Given the description of an element on the screen output the (x, y) to click on. 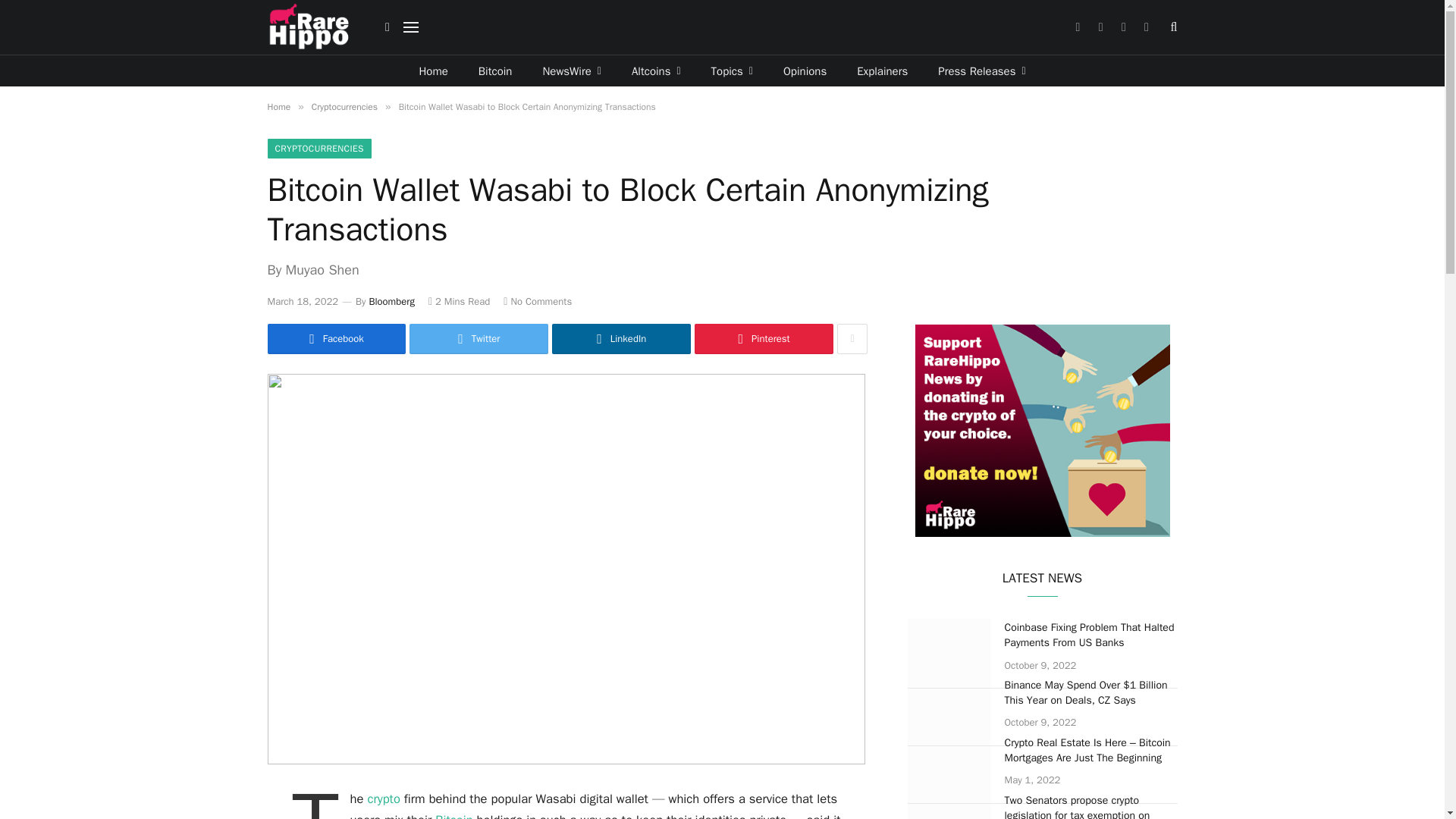
Switch to Dark Design - easier on eyes. (387, 27)
NewsWire (571, 70)
Bitcoin (495, 70)
Home (433, 70)
